Given the description of an element on the screen output the (x, y) to click on. 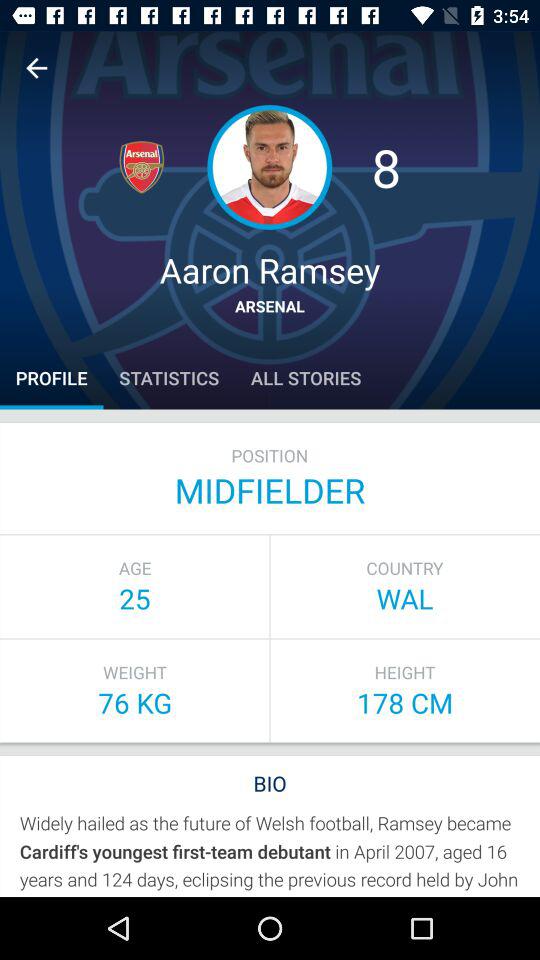
go back to squad overview (36, 68)
